Given the description of an element on the screen output the (x, y) to click on. 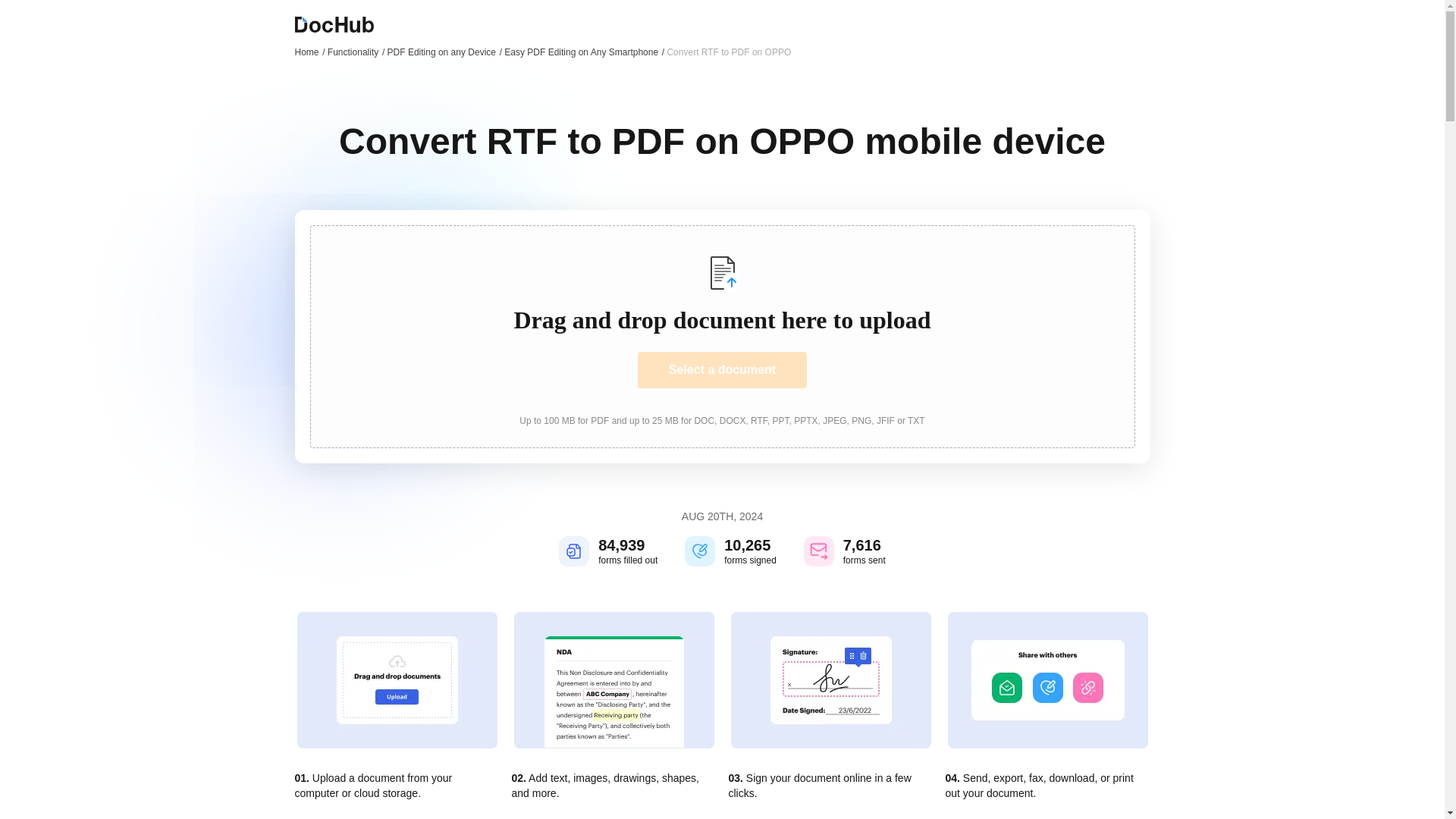
Functionality (355, 51)
PDF Editing on any Device (444, 51)
Select a document (721, 370)
Home (309, 51)
Easy PDF Editing on Any Smartphone (583, 51)
